Given the description of an element on the screen output the (x, y) to click on. 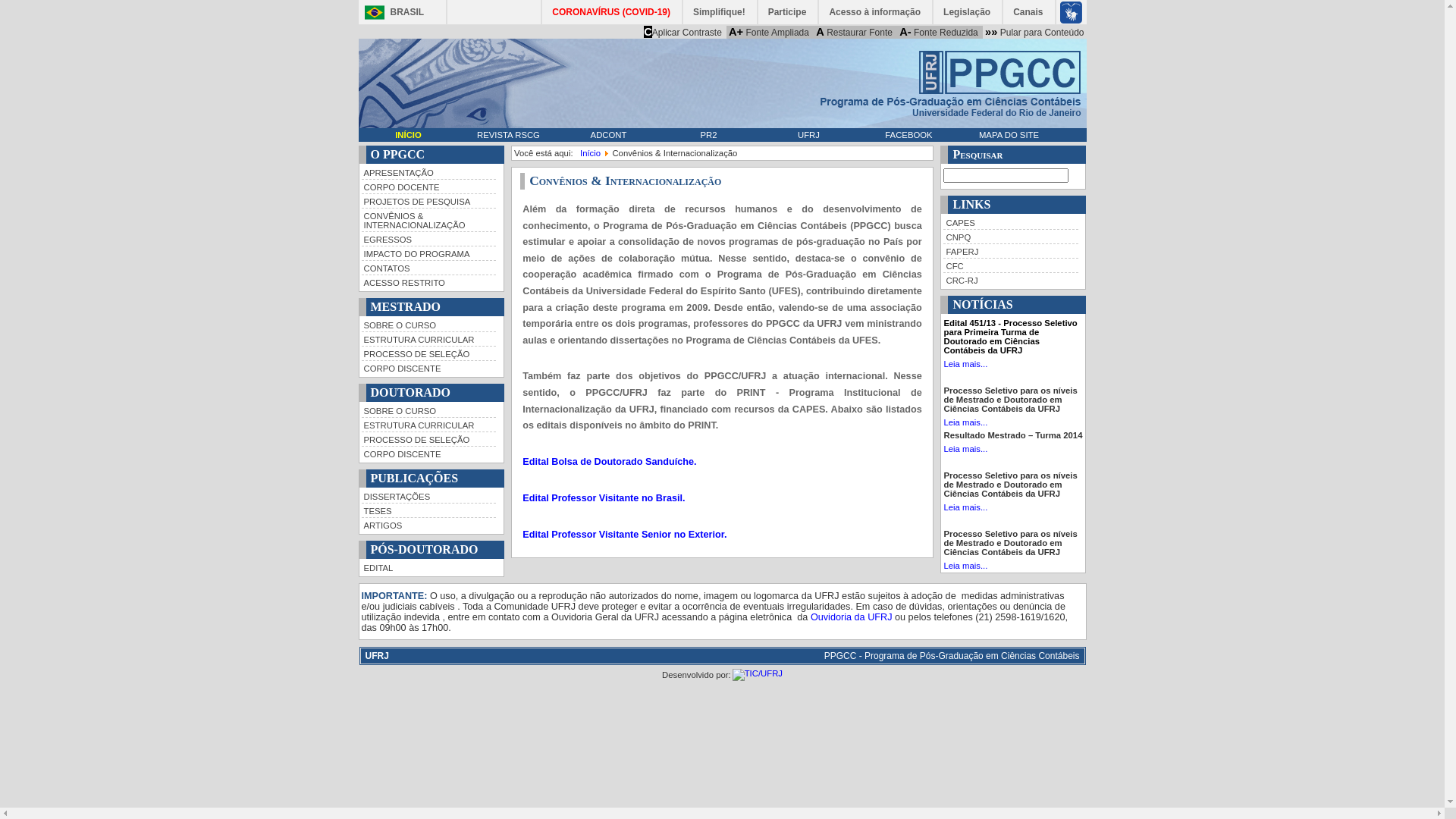
MAPA DO SITE Element type: text (1008, 134)
CORPO DISCENTE Element type: text (427, 452)
Leia mais... Element type: text (965, 448)
TESES Element type: text (427, 509)
CFC Element type: text (1010, 264)
A+ Fonte Ampliada Element type: text (768, 31)
Simplifique! Element type: text (719, 11)
FACEBOOK Element type: text (908, 134)
FAPERJ Element type: text (1010, 250)
CORPO DOCENTE Element type: text (427, 185)
CORPO DISCENTE Element type: text (427, 367)
REVISTA RSCG Element type: text (508, 134)
Leia mais... Element type: text (965, 421)
BRASIL Element type: text (389, 12)
A- Fonte Reduzida Element type: text (938, 31)
CONTATOS Element type: text (427, 267)
UFRJ Element type: text (377, 655)
SOBRE O CURSO Element type: text (427, 324)
Ouvidoria da UFRJ Element type: text (851, 616)
Leia mais... Element type: text (965, 363)
Participe Element type: text (788, 11)
ACESSO RESTRITO Element type: text (427, 281)
PR2 Element type: text (708, 134)
PROJETOS DE PESQUISA Element type: text (427, 200)
A Restaurar Fonte Element type: text (853, 31)
Edital Professor Visitante Senior no Exterior. Element type: text (624, 534)
IMPACTO DO PROGRAMA Element type: text (427, 252)
CRC-RJ Element type: text (1010, 279)
SOBRE O CURSO Element type: text (427, 410)
Canais Element type: text (1028, 11)
CNPQ Element type: text (1010, 236)
EDITAL Element type: text (427, 567)
ADCONT Element type: text (608, 134)
EGRESSOS Element type: text (427, 238)
CAplicar Contraste Element type: text (682, 31)
Leia mais... Element type: text (965, 565)
Leia mais... Element type: text (965, 506)
Edital Professor Visitante no Brasil. Element type: text (603, 497)
CAPES Element type: text (1010, 222)
UFRJ Element type: text (808, 134)
ARTIGOS Element type: text (427, 524)
ESTRUTURA CURRICULAR Element type: text (427, 424)
ESTRUTURA CURRICULAR Element type: text (427, 338)
